Given the description of an element on the screen output the (x, y) to click on. 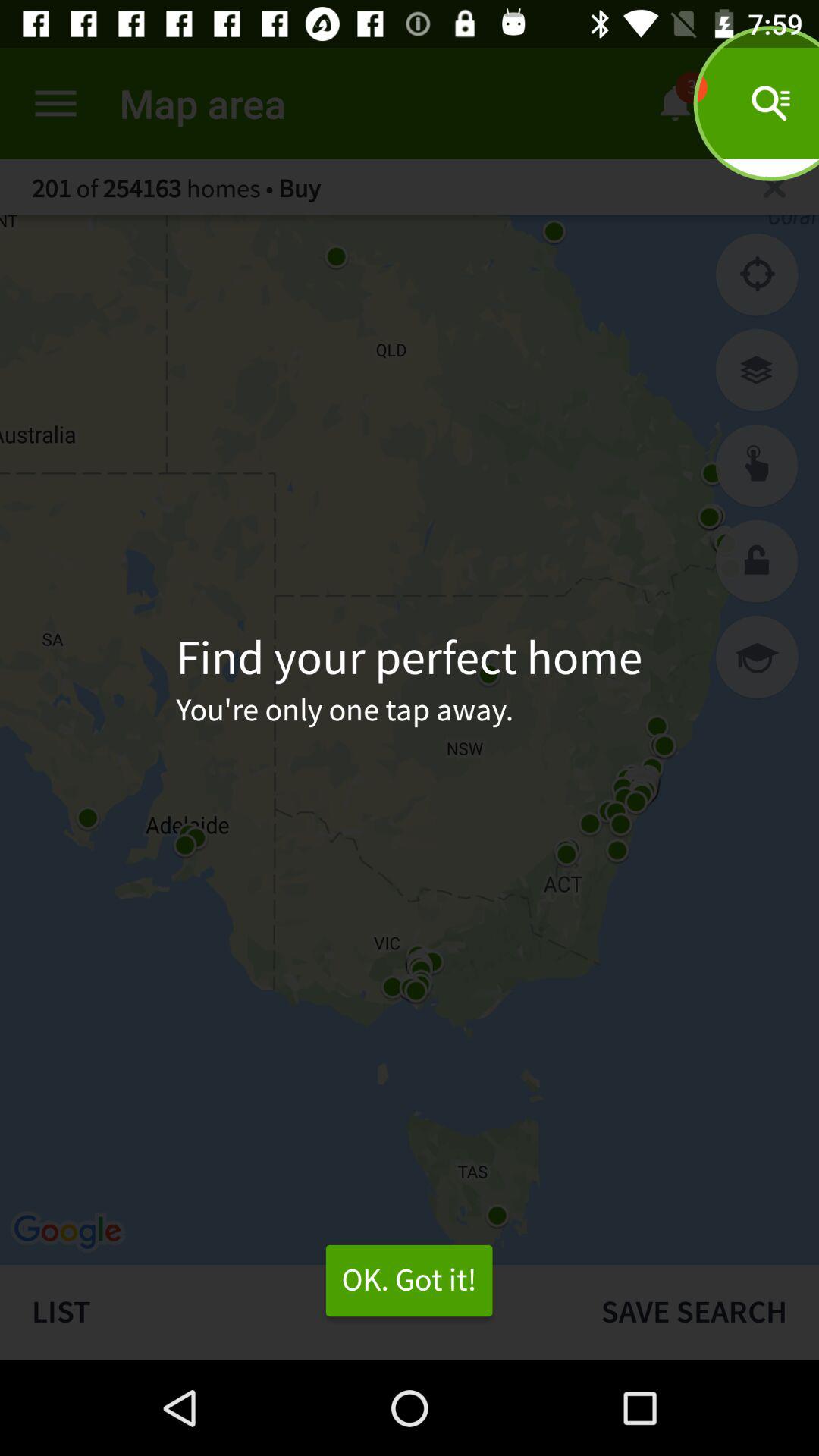
lock the screen (756, 561)
